Given the description of an element on the screen output the (x, y) to click on. 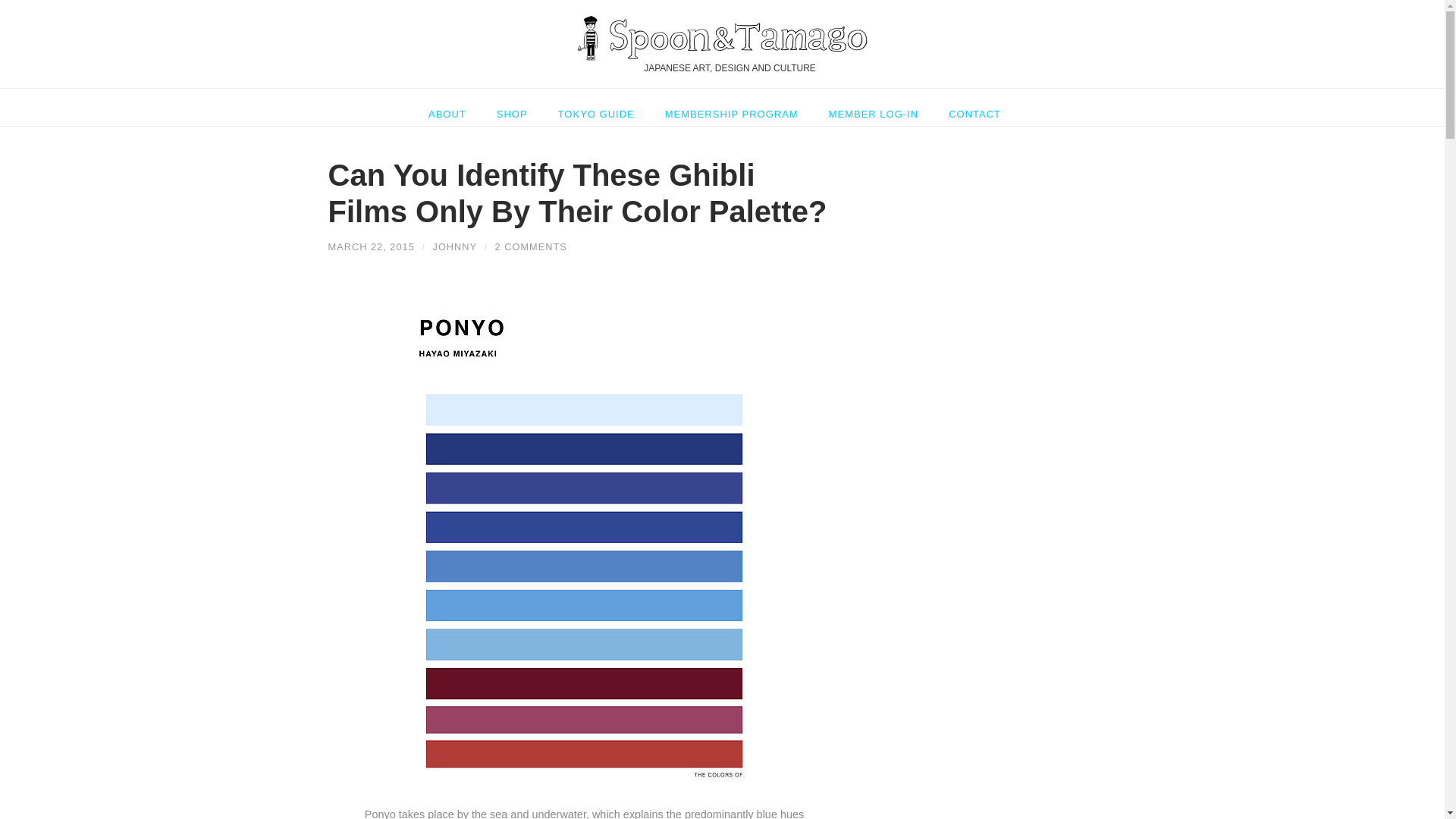
SHOP (512, 107)
JOHNNY (454, 246)
2 COMMENTS (531, 246)
ABOUT (454, 107)
MEMBERSHIP PROGRAM (731, 107)
TOKYO GUIDE (596, 107)
MEMBER LOG-IN (873, 107)
MARCH 22, 2015 (370, 246)
Posts by Johnny (454, 246)
JAPANESE ART, DESIGN AND CULTURE (721, 43)
CONTACT (974, 107)
